Given the description of an element on the screen output the (x, y) to click on. 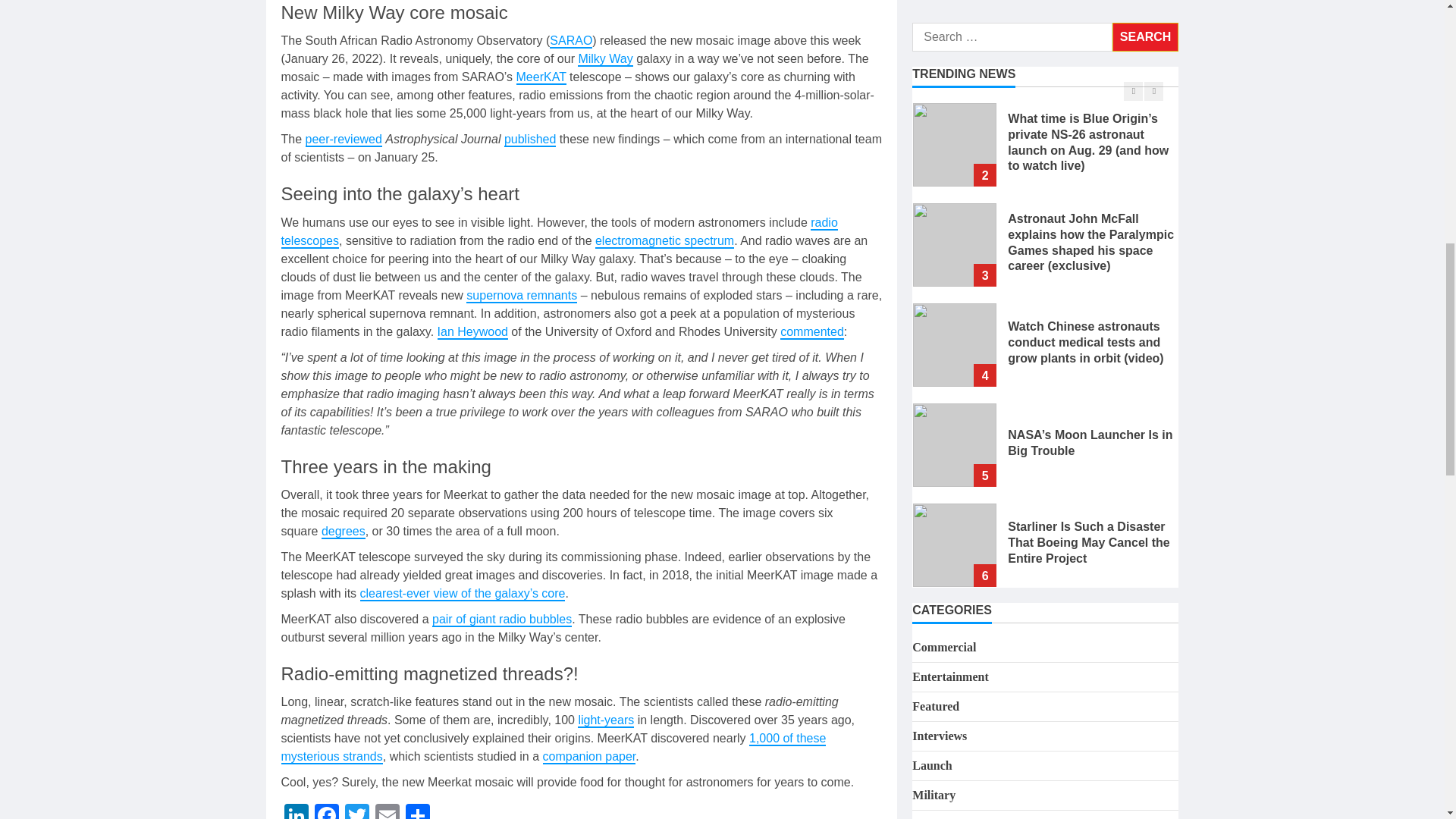
SARAO (571, 41)
LinkedIn (296, 811)
Twitter (355, 811)
Milky Way (604, 59)
Email (386, 811)
MeerKAT (541, 77)
Facebook (325, 811)
